Given the description of an element on the screen output the (x, y) to click on. 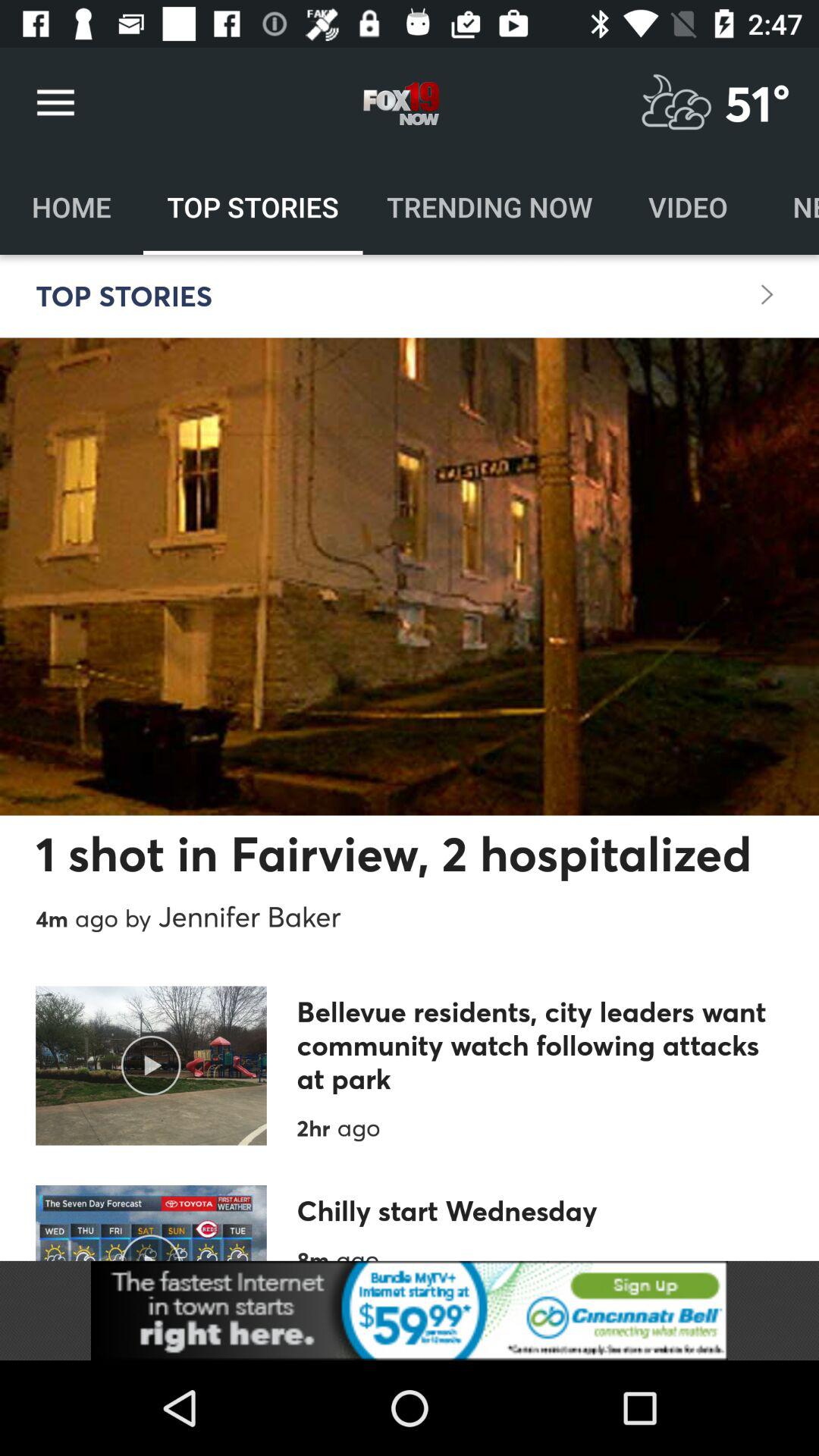
expand weather (676, 103)
